Given the description of an element on the screen output the (x, y) to click on. 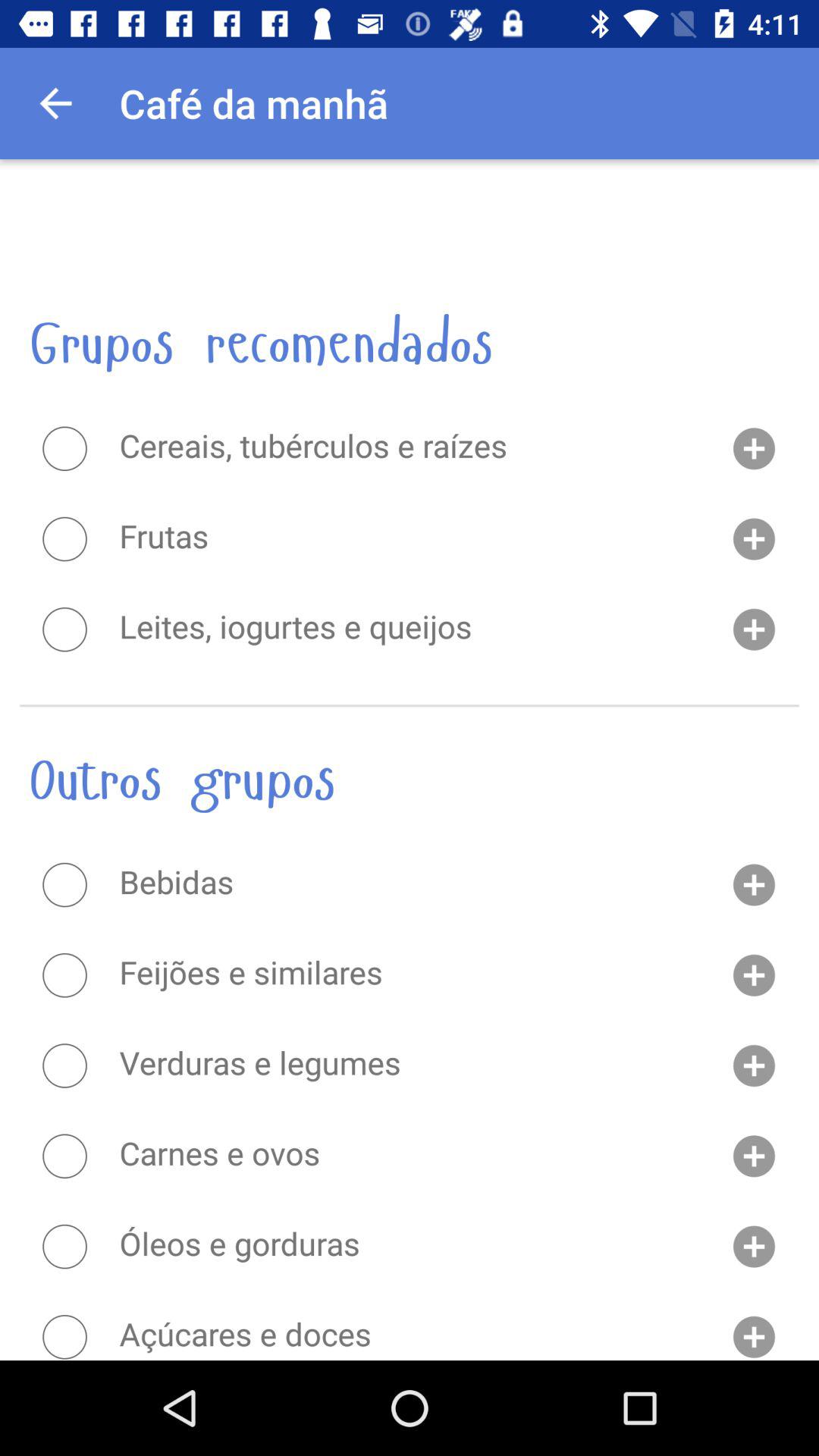
choose the option cereais tubrculos e razes (64, 448)
